Given the description of an element on the screen output the (x, y) to click on. 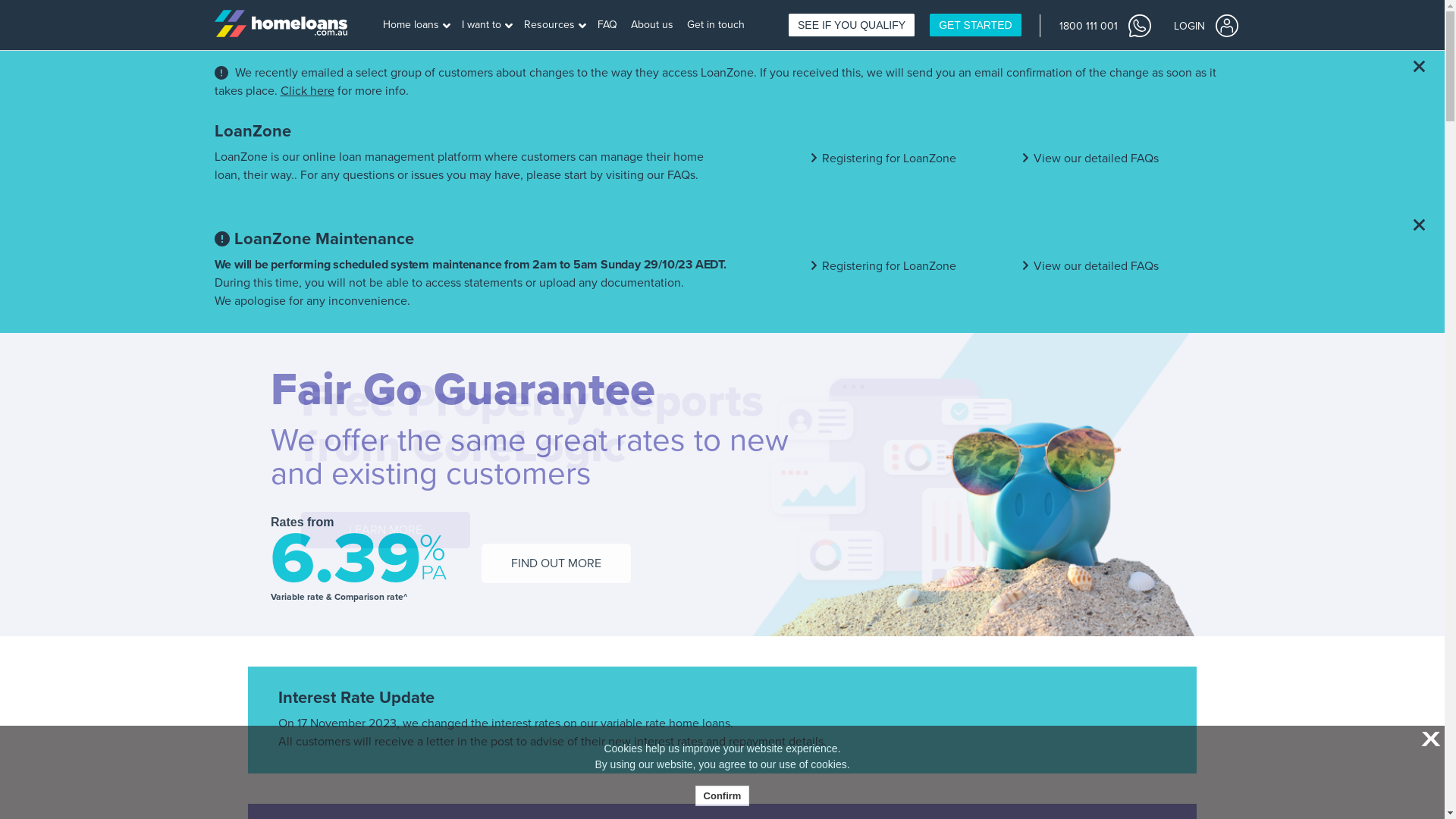
SEE IF YOU QUALIFY Element type: text (851, 24)
View our detailed FAQs Element type: text (1095, 265)
FAQ Element type: text (608, 25)
View our detailed FAQs Element type: text (1095, 158)
Get in touch Element type: text (716, 25)
Confirm Element type: text (722, 795)
Home loans Element type: text (416, 25)
Resources Element type: text (555, 25)
Registering for LoanZone Element type: text (889, 265)
Click here Element type: text (307, 90)
X Element type: text (1428, 739)
1800 111 001
  Element type: text (1104, 24)
About us Element type: text (652, 25)
LOGIN
  Element type: text (1205, 24)
GET STARTED Element type: text (974, 24)
FIND OUT MORE Element type: text (555, 563)
I want to Element type: text (486, 25)
Registering for LoanZone Element type: text (889, 158)
